Given the description of an element on the screen output the (x, y) to click on. 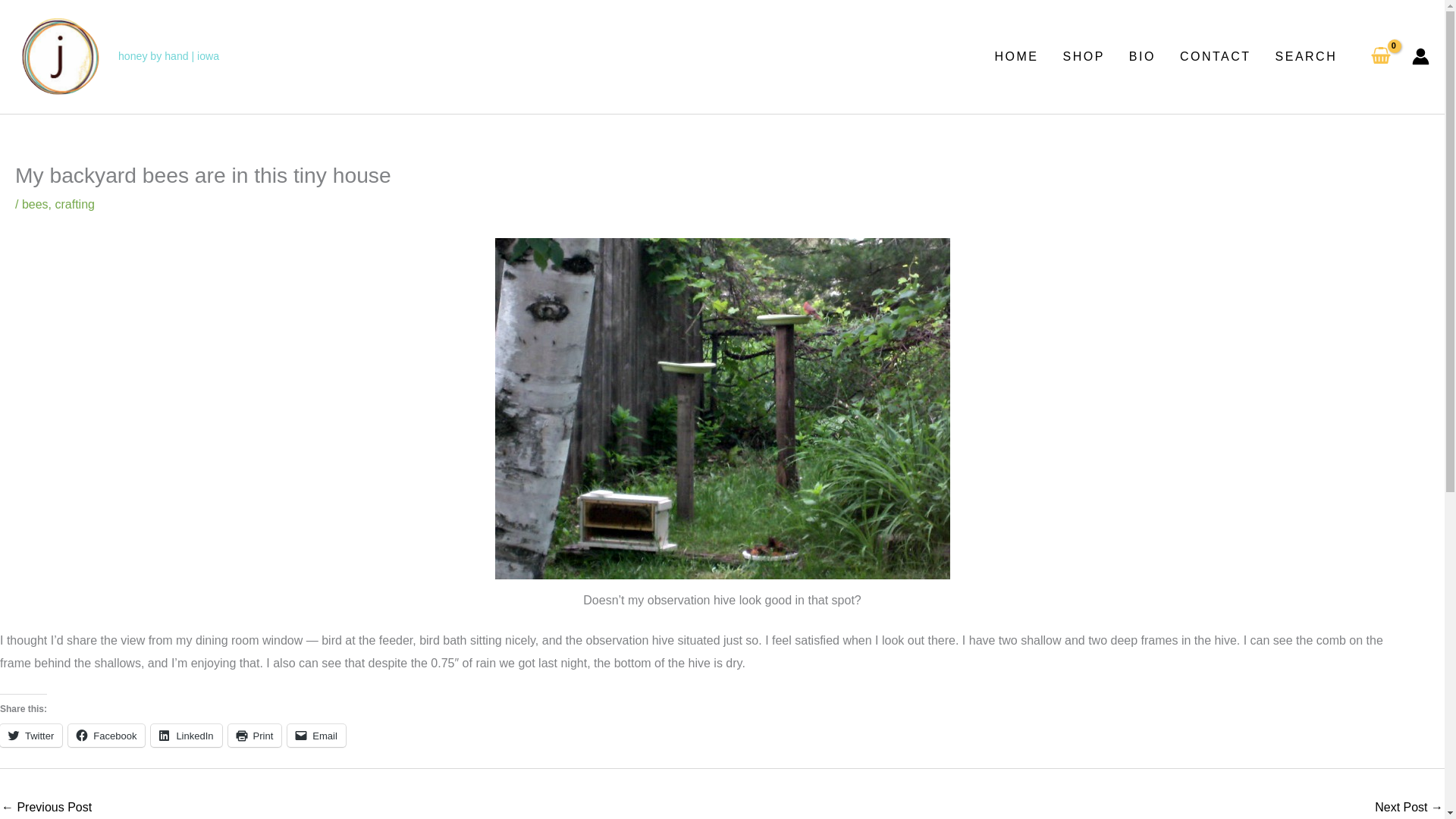
Click to share on Twitter (31, 734)
crafting (74, 204)
Click to share on Facebook (106, 734)
SEARCH (1306, 56)
Email (316, 734)
CONTACT (1215, 56)
Facebook (106, 734)
LinkedIn (186, 734)
Print (255, 734)
The effects of "Cooked" (1408, 806)
